Given the description of an element on the screen output the (x, y) to click on. 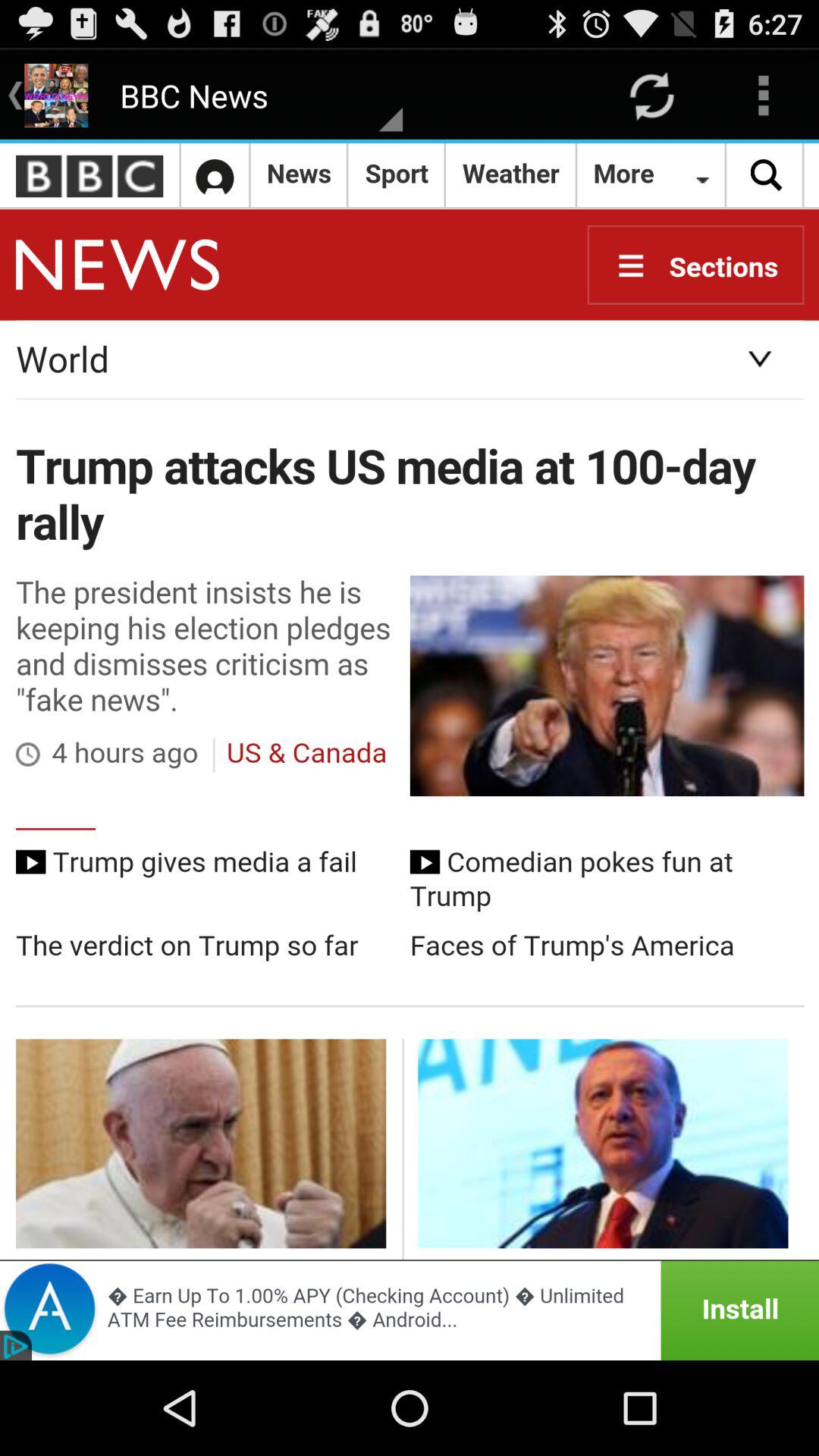
open advert (409, 1310)
